Given the description of an element on the screen output the (x, y) to click on. 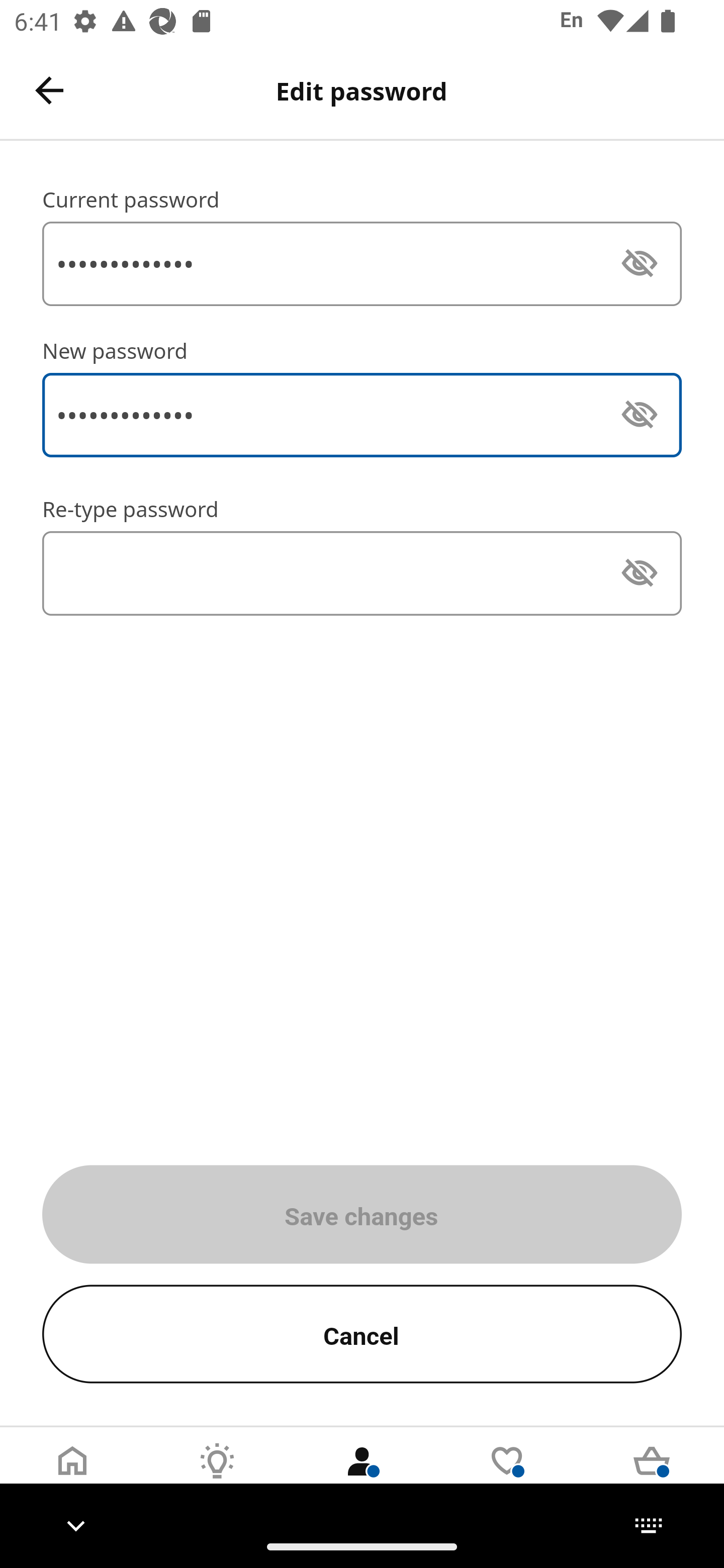
••••••••••••• (361, 263)
••••••••••••• (361, 415)
Save changes (361, 1214)
Cancel (361, 1333)
Home
Tab 1 of 5 (72, 1476)
Inspirations
Tab 2 of 5 (216, 1476)
User
Tab 3 of 5 (361, 1476)
Wishlist
Tab 4 of 5 (506, 1476)
Cart
Tab 5 of 5 (651, 1476)
